Given the description of an element on the screen output the (x, y) to click on. 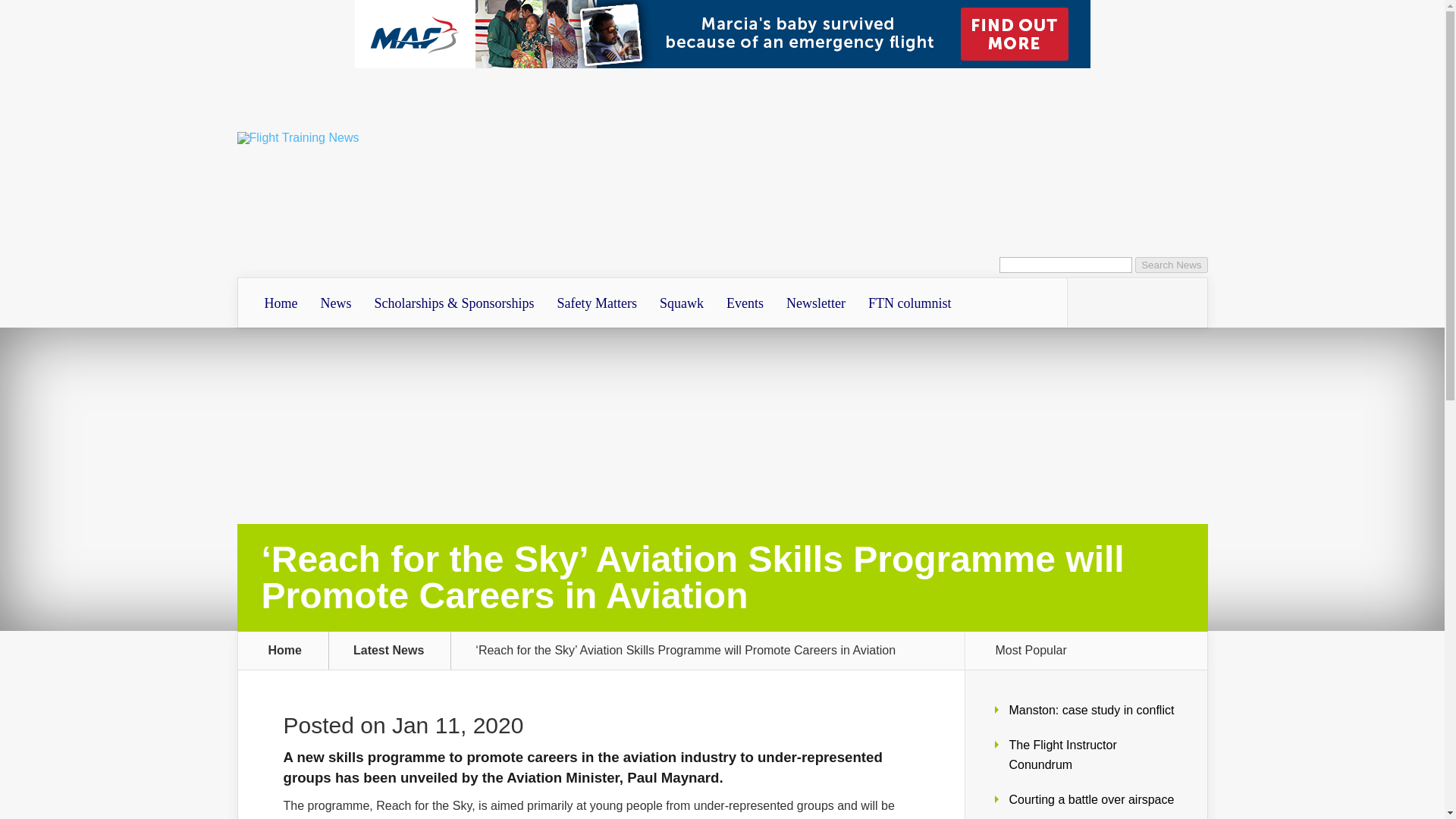
Safety Matters (596, 303)
Search News (1171, 264)
Squawk (680, 303)
Courting a battle over airspace (1091, 799)
Newsletter (815, 303)
FTN columnist (909, 303)
Search News (1171, 264)
Events (744, 303)
Home (285, 650)
Manston: case study in conflict (1091, 709)
Home (280, 303)
Subscribe To Rss Feed (1090, 302)
The Flight Instructor Conundrum (1062, 754)
News (335, 303)
Latest News (397, 650)
